Given the description of an element on the screen output the (x, y) to click on. 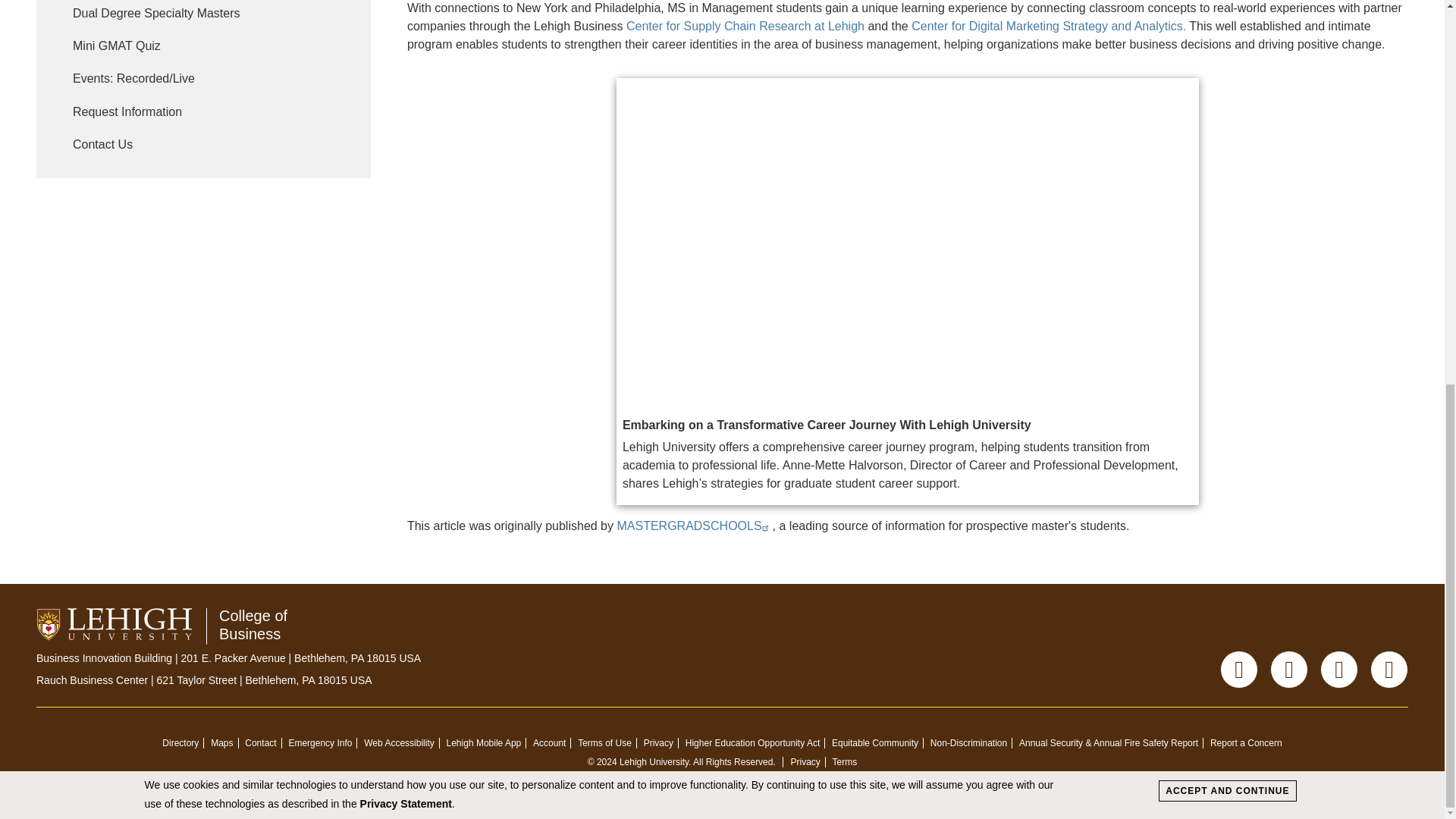
Privacy Statement (405, 80)
ACCEPT AND CONTINUE (1226, 67)
